Given the description of an element on the screen output the (x, y) to click on. 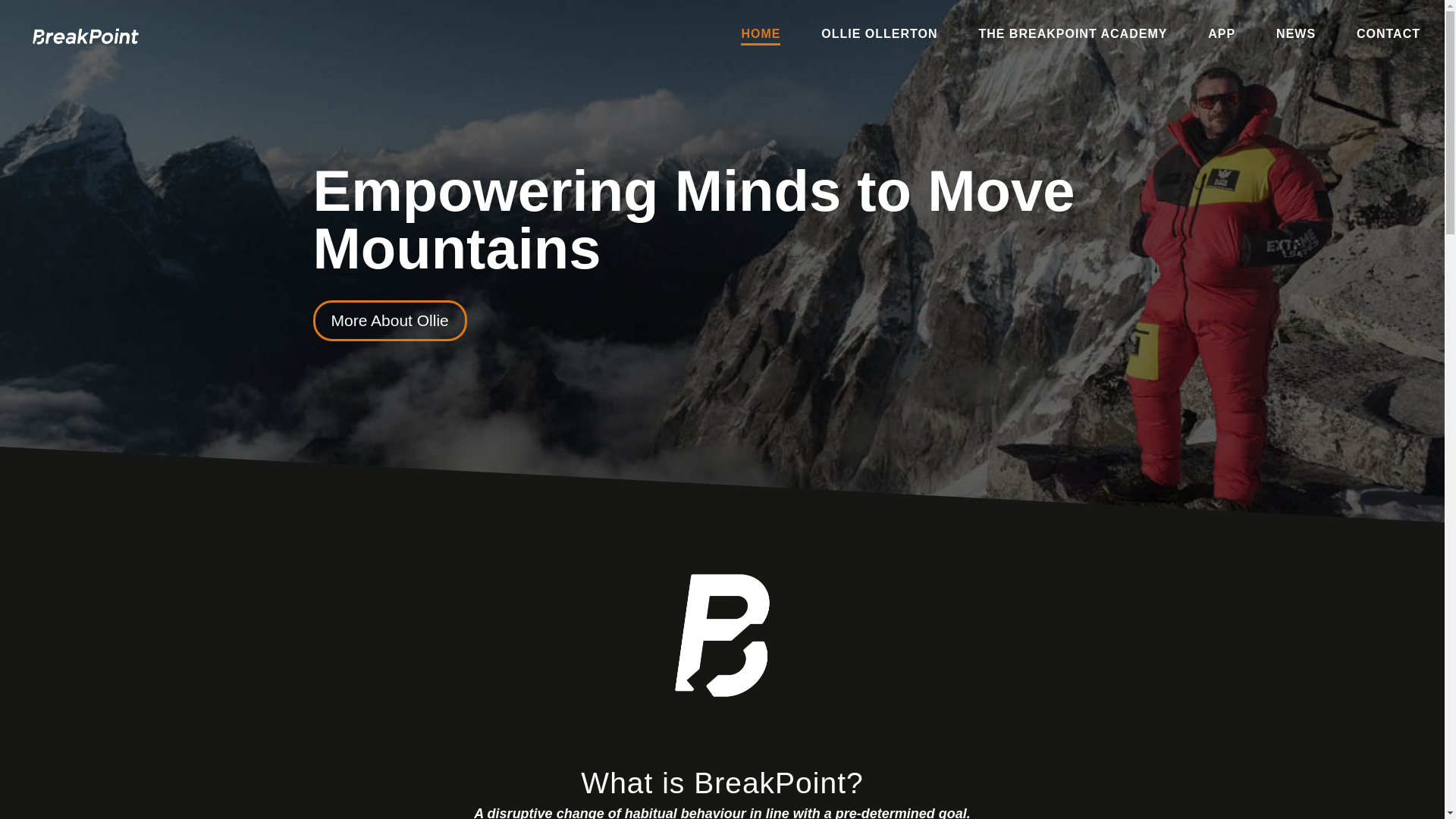
APP (1221, 36)
More About Ollie (389, 320)
HOME (760, 36)
bp-icon-light (722, 634)
THE BREAKPOINT ACADEMY (1072, 36)
NEWS (1296, 36)
OLLIE OLLERTON (879, 36)
CONTACT (1388, 36)
